Given the description of an element on the screen output the (x, y) to click on. 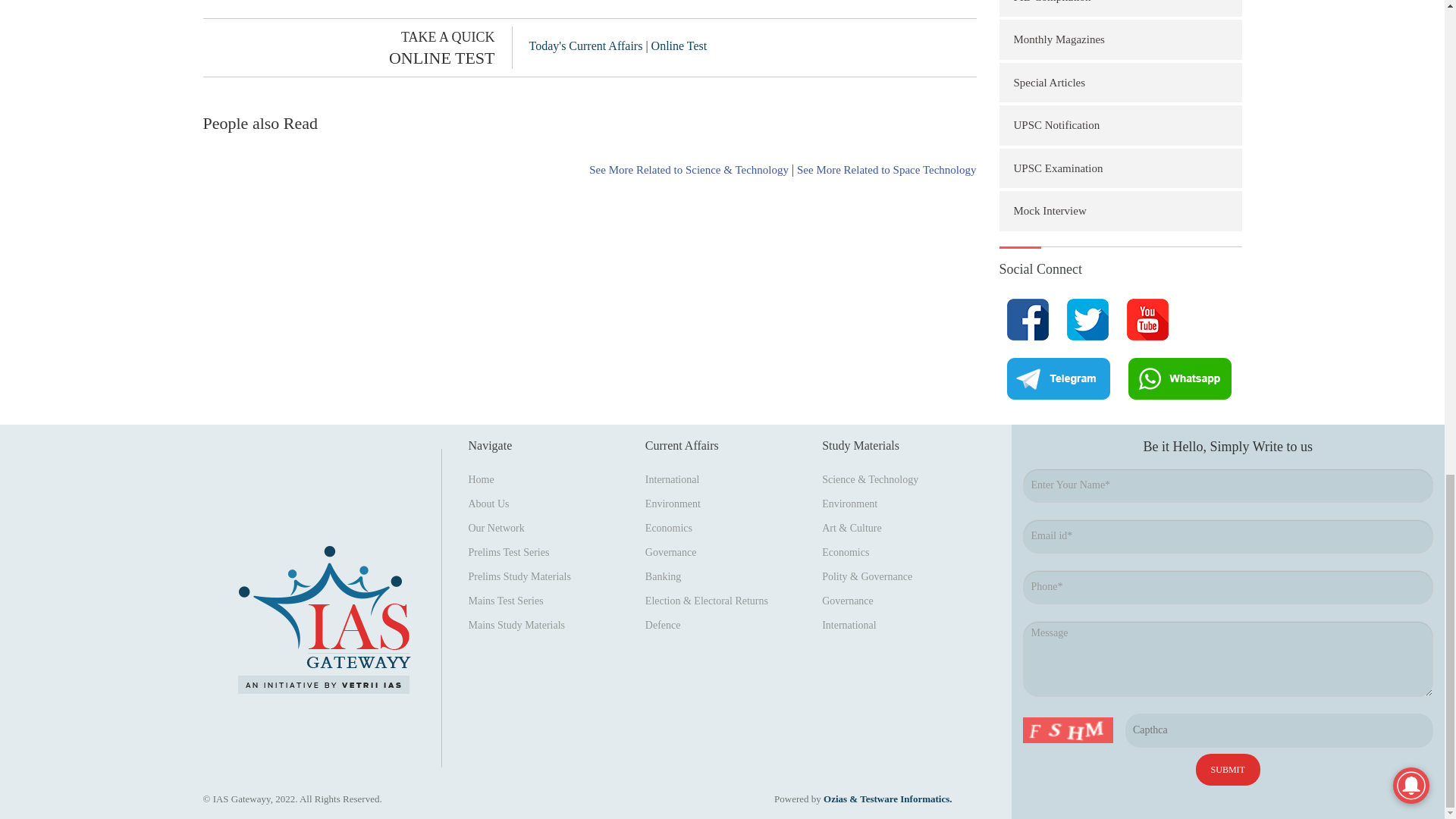
Submit (1227, 769)
